Given the description of an element on the screen output the (x, y) to click on. 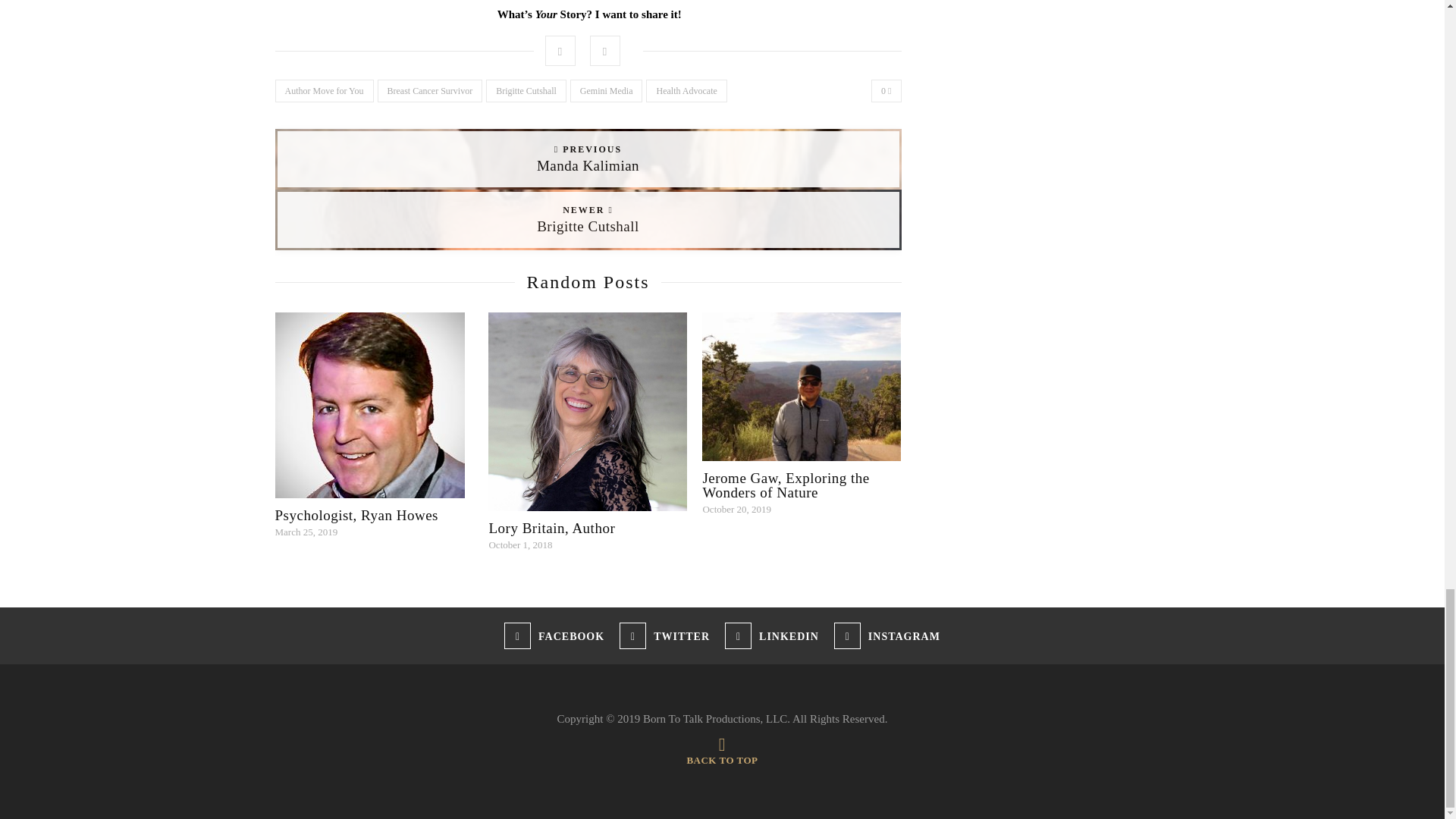
Author Move for You (323, 90)
Like (885, 90)
BACK TO TOP (721, 753)
Breast Cancer Survivor (430, 90)
Brigitte Cutshall (526, 90)
